Given the description of an element on the screen output the (x, y) to click on. 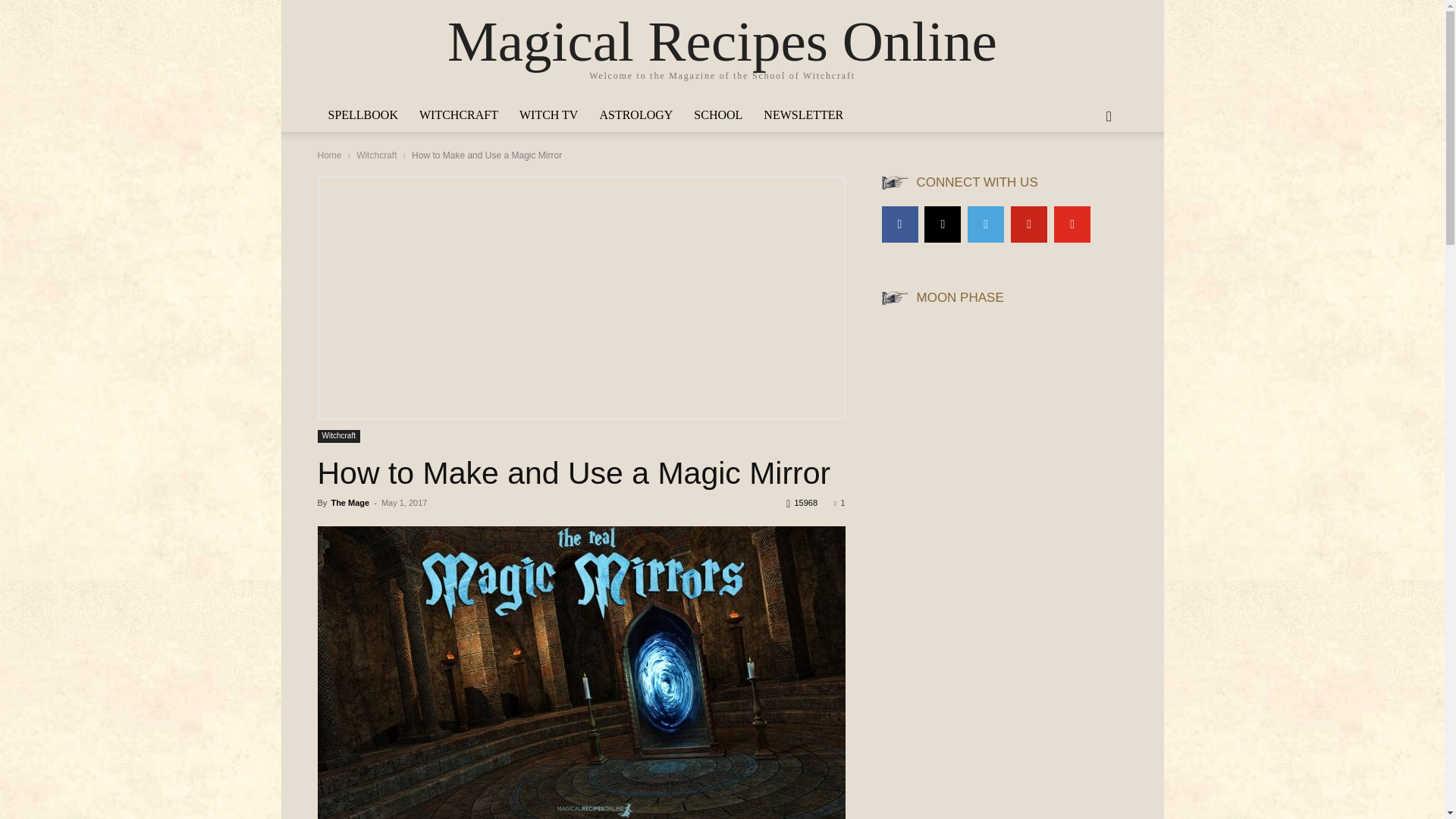
WITCHCRAFT (458, 114)
pinterest (1028, 224)
Home (328, 154)
SCHOOL (717, 114)
instagram (942, 224)
The Mage (349, 501)
Witchcraft (338, 436)
ASTROLOGY (635, 114)
NEWSLETTER (802, 114)
SPELLBOOK (362, 114)
twitter (986, 224)
Instagram (942, 224)
WITCH TV (548, 114)
Witchcraft (376, 154)
Twitter (986, 224)
